Given the description of an element on the screen output the (x, y) to click on. 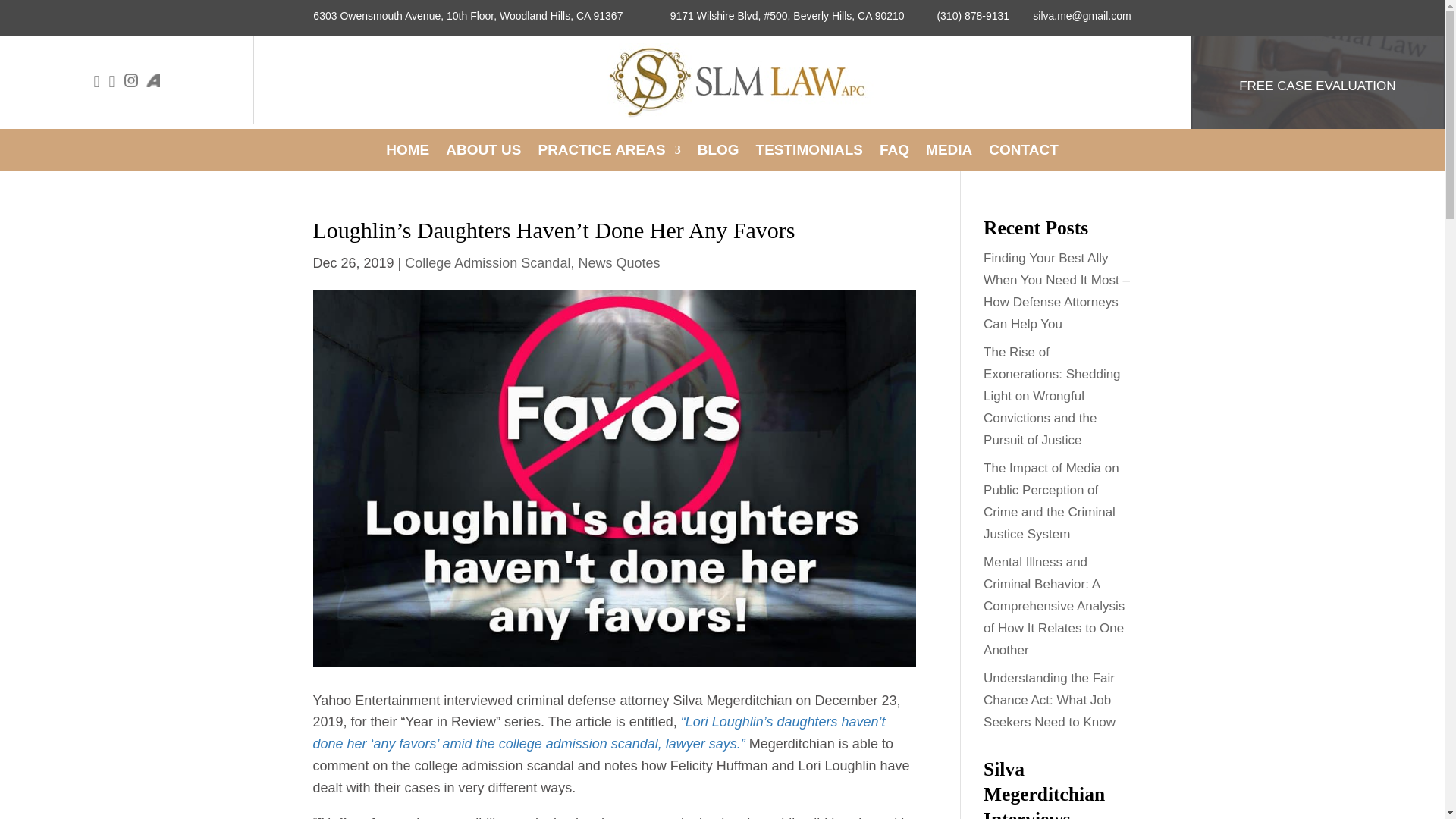
BLOG (718, 152)
FAQ (893, 152)
PRACTICE AREAS (608, 152)
silva legal logo main (743, 80)
ABOUT US (483, 152)
CONTACT (1023, 152)
MEDIA (949, 152)
HOME (407, 152)
TESTIMONIALS (809, 152)
